Given the description of an element on the screen output the (x, y) to click on. 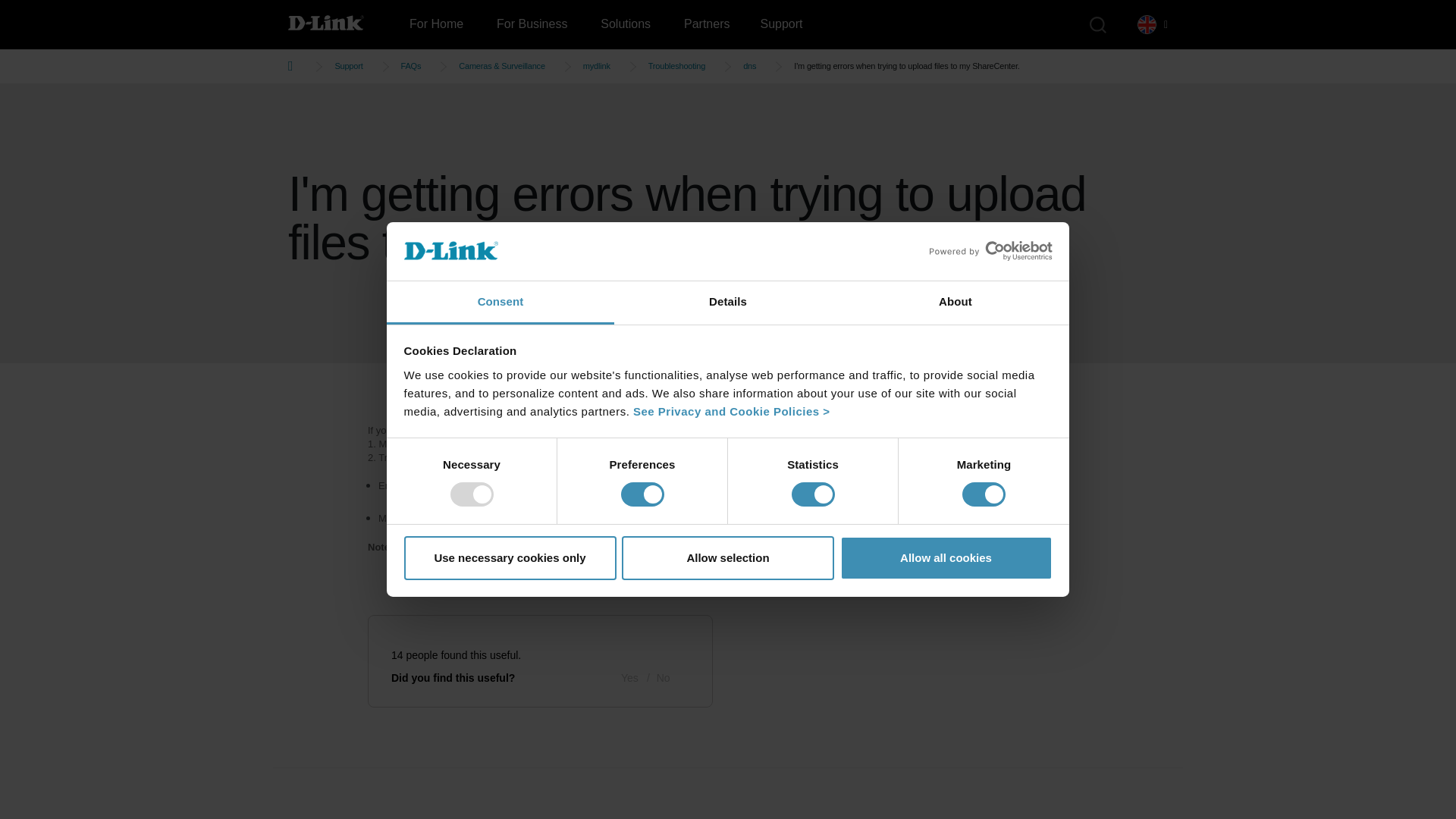
About (954, 302)
Learn more about eu.dlink.com cookies (731, 410)
Details (727, 302)
Consent (500, 302)
